Given the description of an element on the screen output the (x, y) to click on. 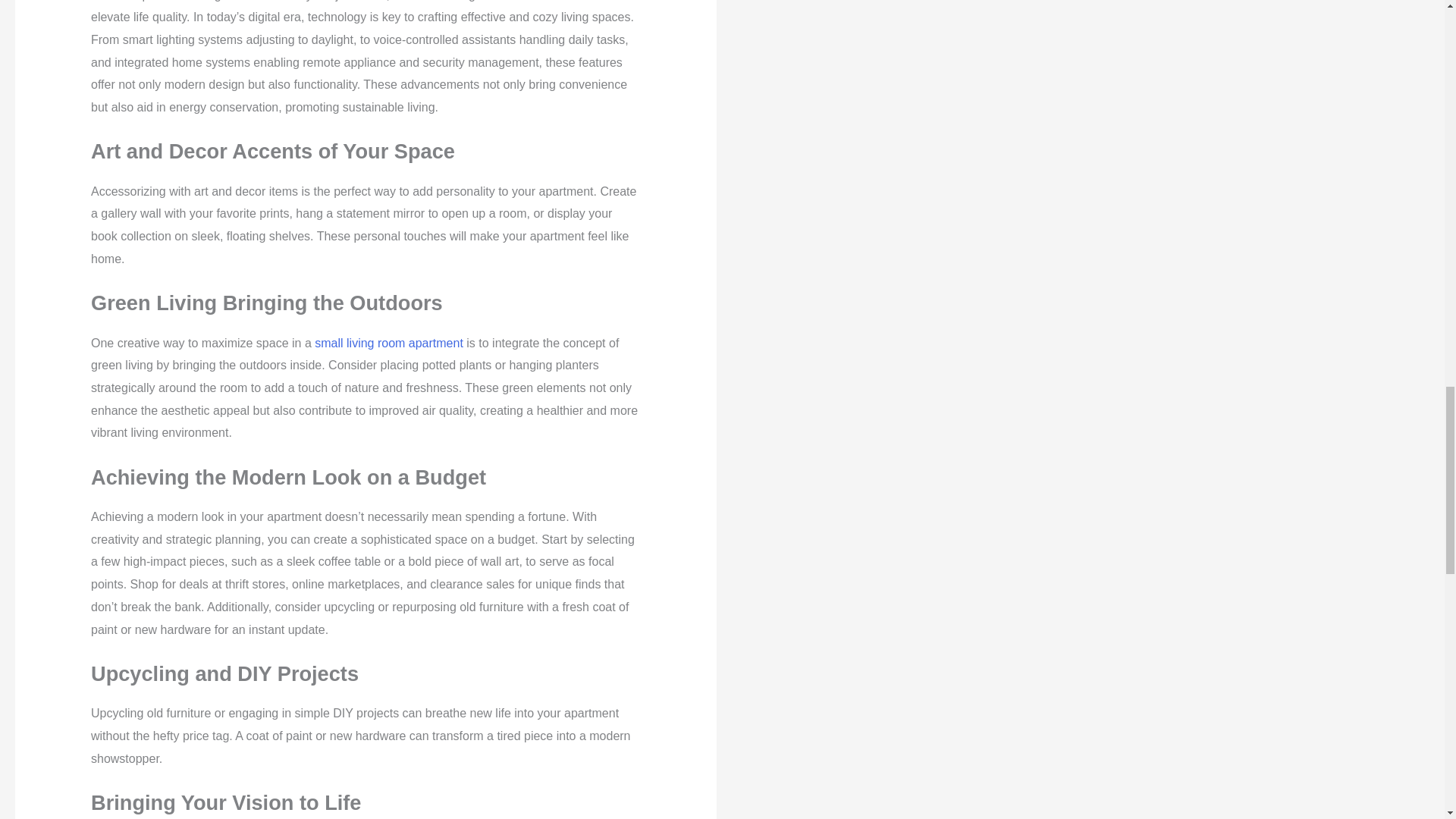
small living room apartment (388, 342)
